Given the description of an element on the screen output the (x, y) to click on. 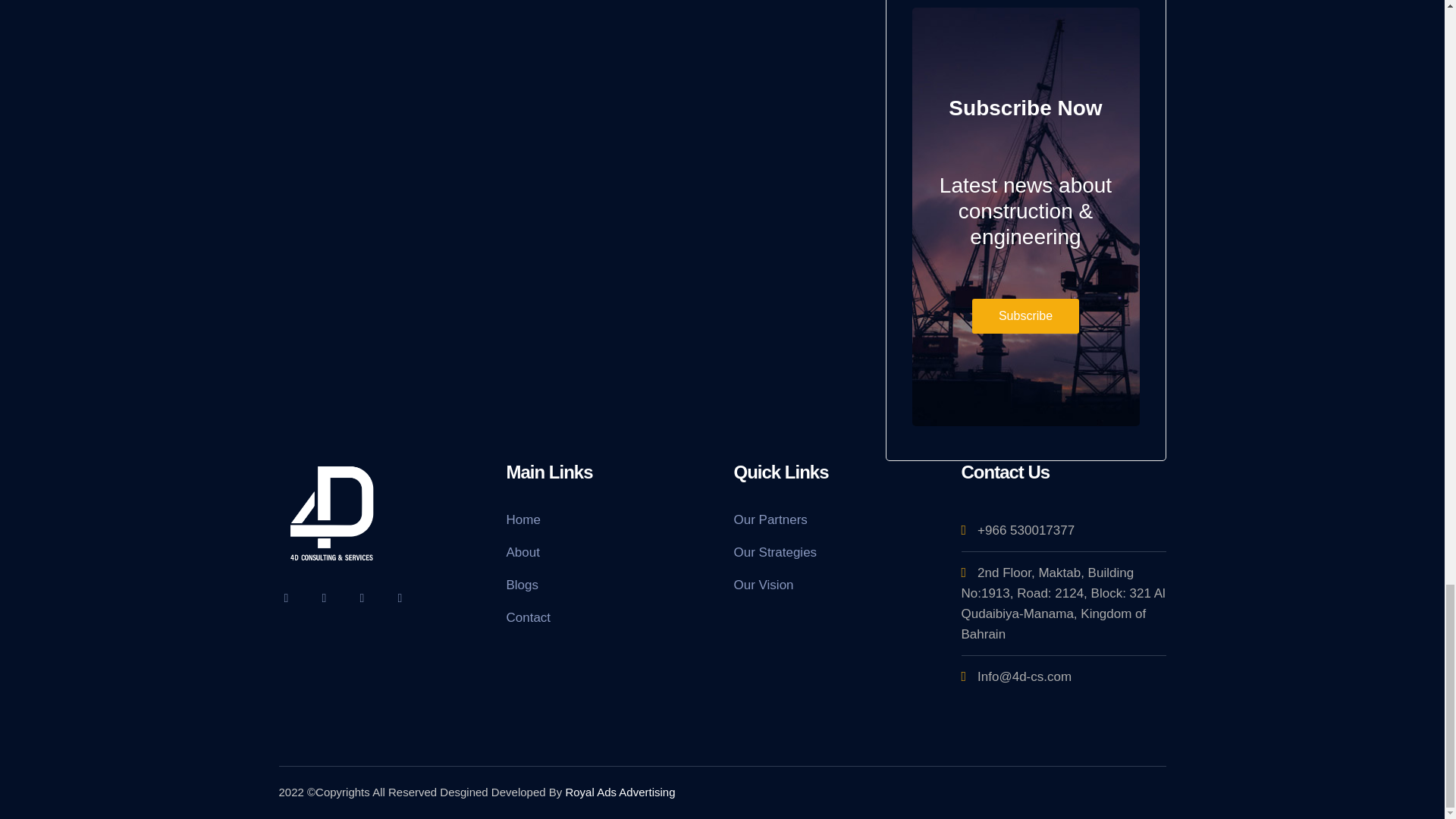
twitter (286, 597)
instagram (400, 597)
facebook-f (324, 597)
linkedin-in (362, 597)
